Given the description of an element on the screen output the (x, y) to click on. 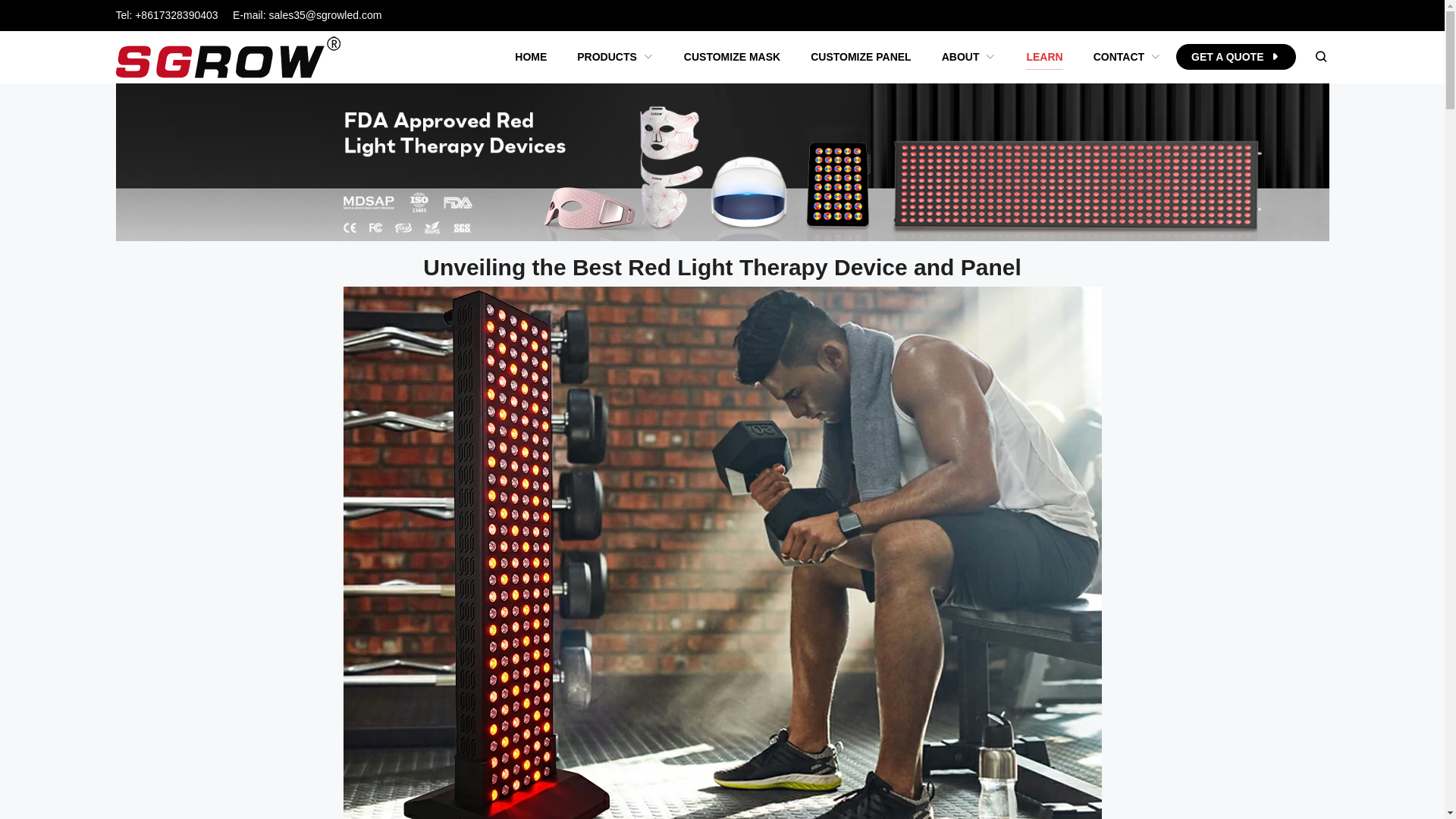
PRODUCTS (615, 56)
SGROW (228, 57)
CONTACT (1127, 56)
LEARN (1043, 56)
CUSTOMIZE MASK (731, 56)
CUSTOMIZE PANEL (860, 56)
ABOUT (968, 56)
HOME (530, 56)
GET A QUOTE (1235, 56)
